Given the description of an element on the screen output the (x, y) to click on. 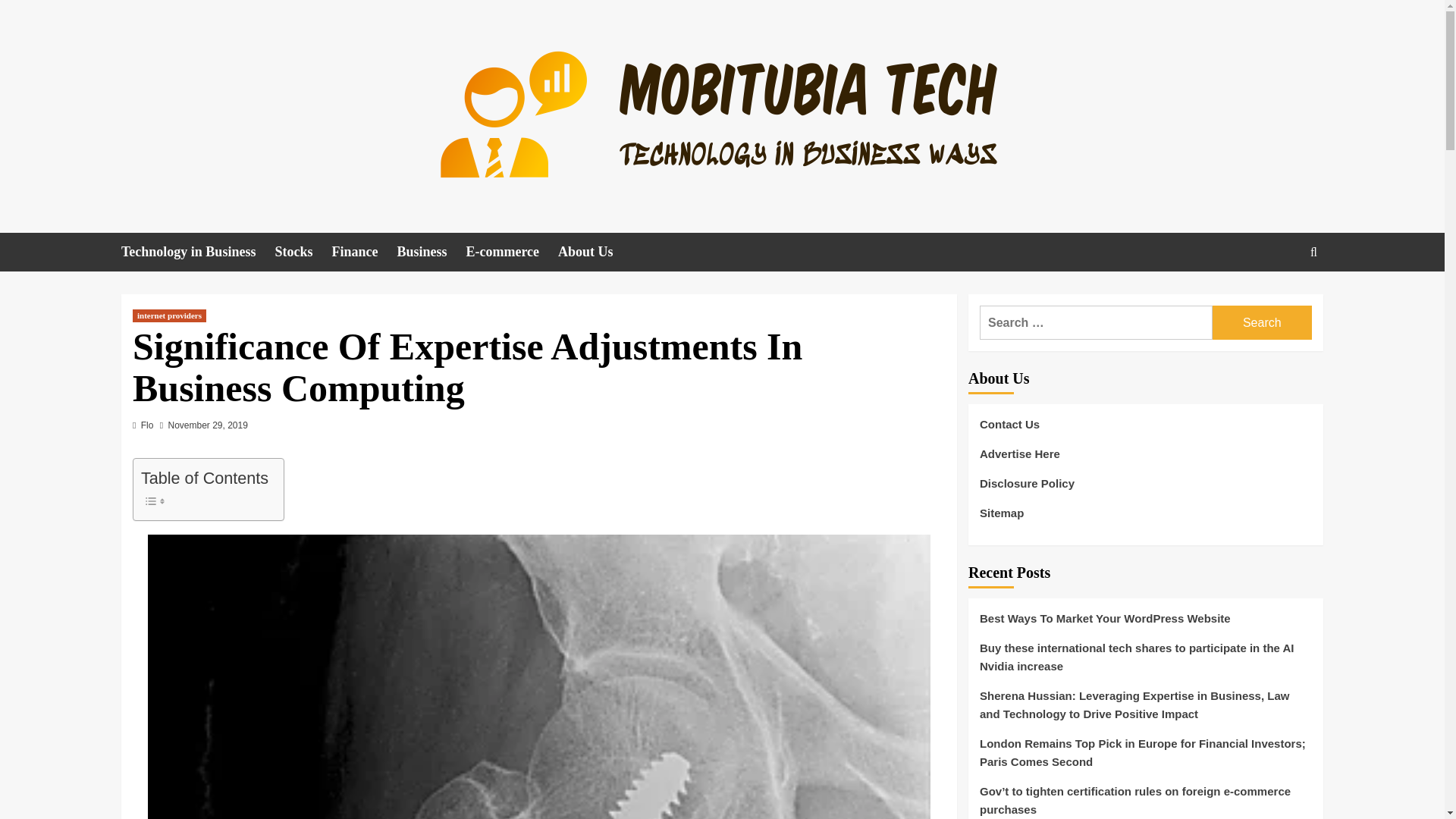
Stocks (303, 251)
November 29, 2019 (207, 425)
Flo (147, 425)
Technology in Business (197, 251)
internet providers (169, 315)
About Us (594, 251)
E-commerce (511, 251)
Business (430, 251)
Search (1261, 322)
Search (1261, 322)
